Given the description of an element on the screen output the (x, y) to click on. 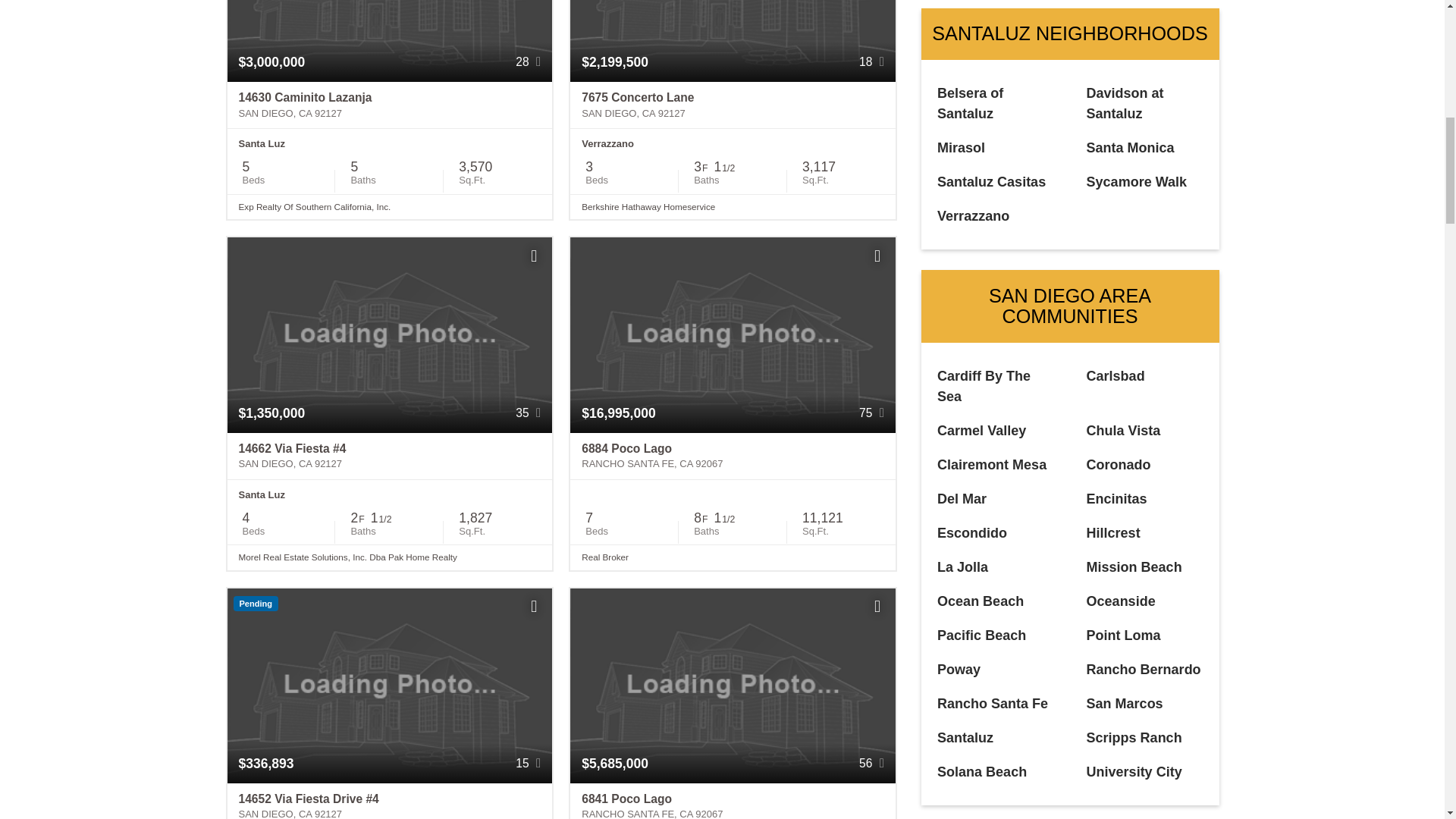
6841 Poco Lago Rancho Santa Fe,  CA 92067 (732, 800)
6884 Poco Lago Rancho Santa Fe,  CA 92067 (732, 456)
14630 Caminito Lazanja San Diego,  CA 92127 (390, 104)
7675 Concerto Lane San Diego,  CA 92127 (732, 104)
